Given the description of an element on the screen output the (x, y) to click on. 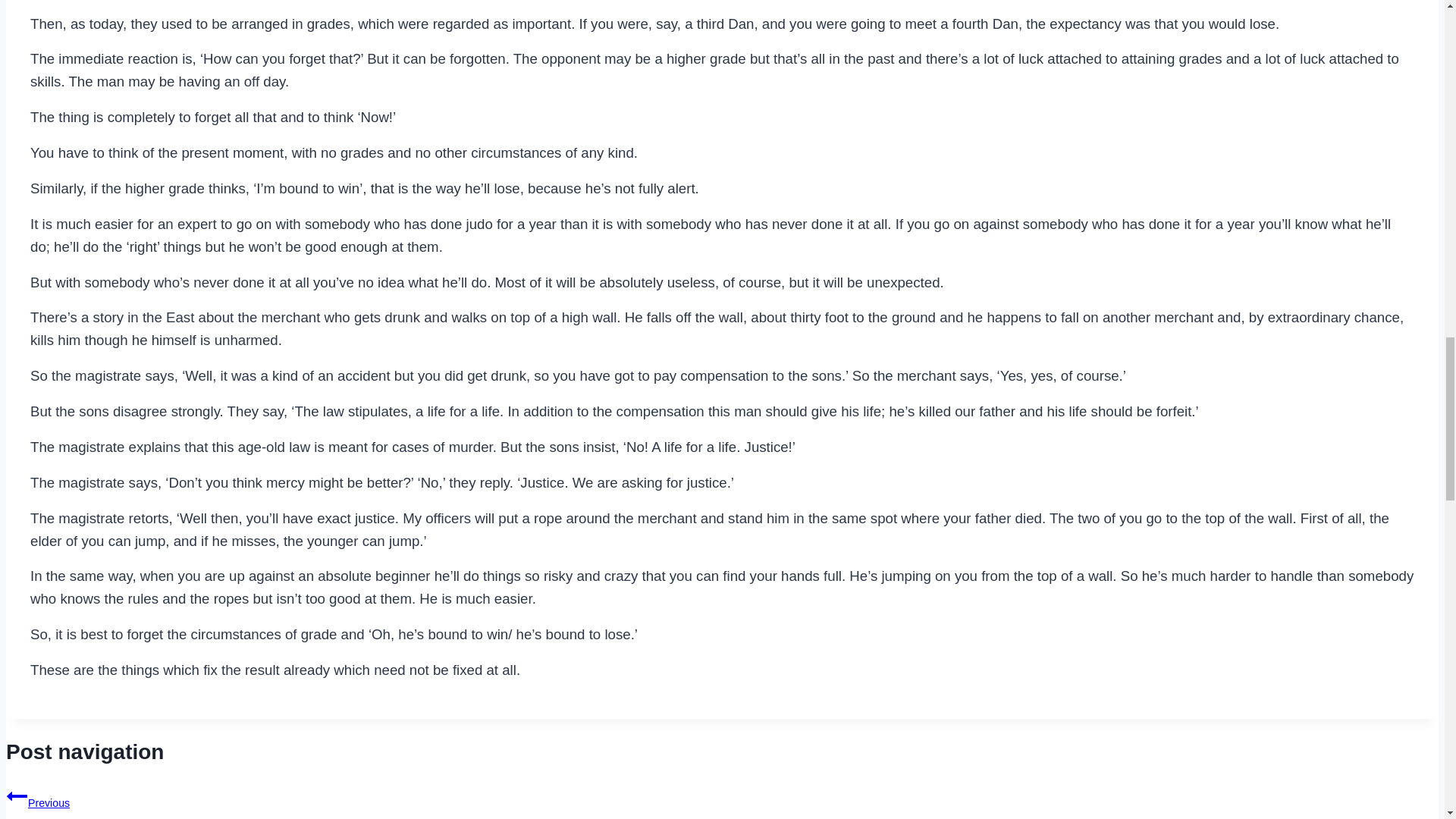
Previous (16, 795)
